Given the description of an element on the screen output the (x, y) to click on. 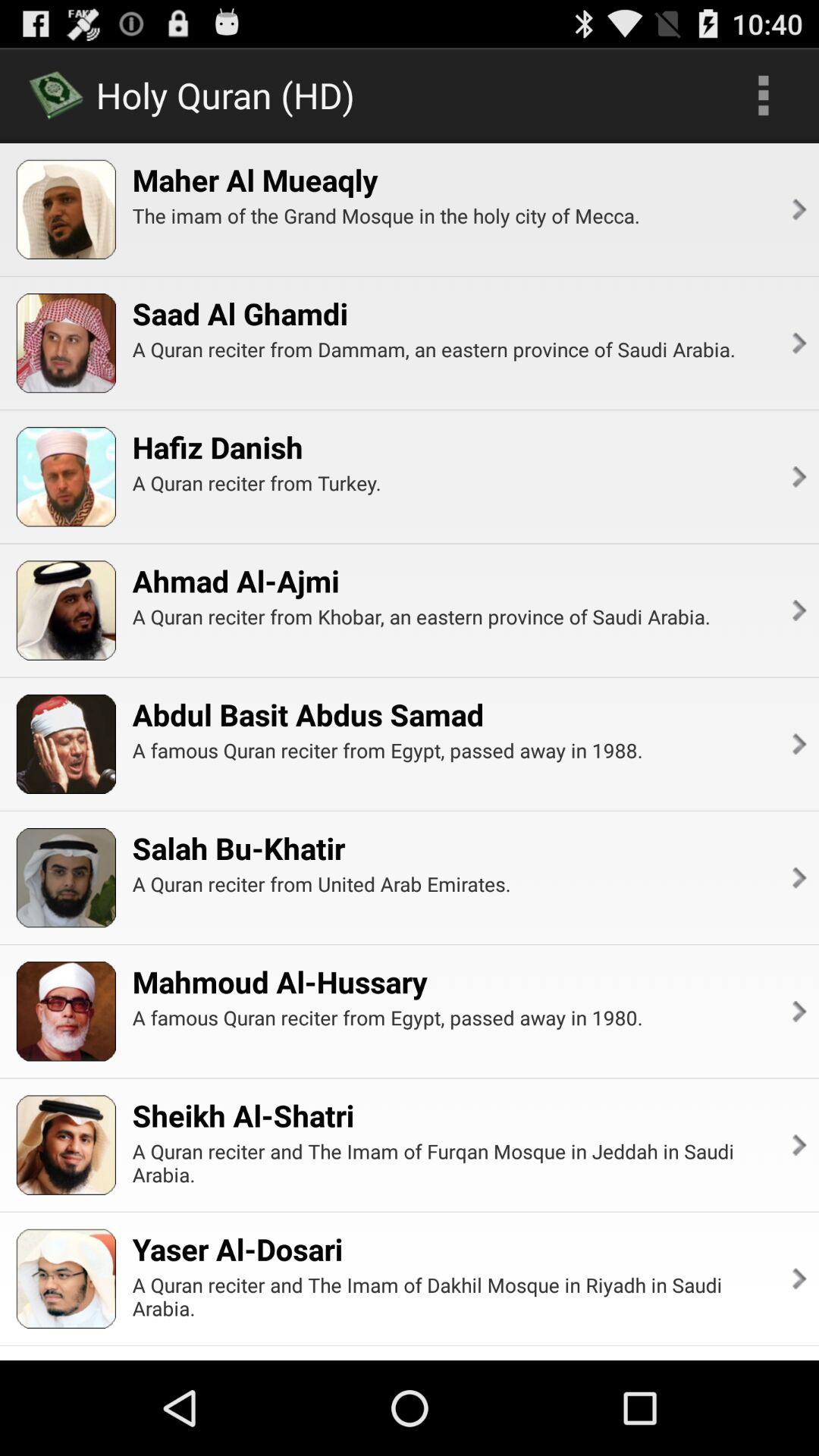
tap the hafiz danish item (217, 447)
